Given the description of an element on the screen output the (x, y) to click on. 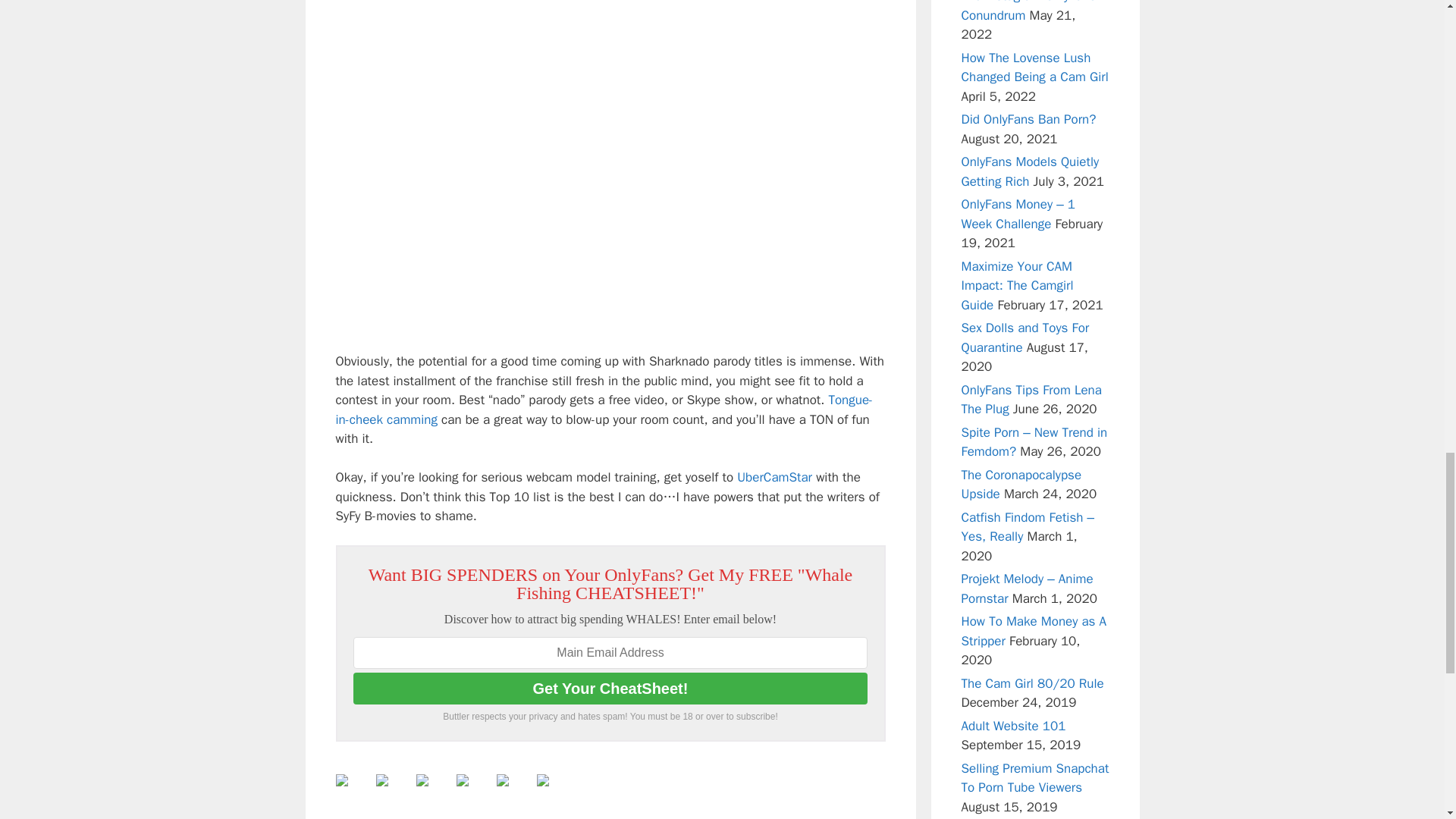
Get Your CheatSheet! (610, 688)
